Given the description of an element on the screen output the (x, y) to click on. 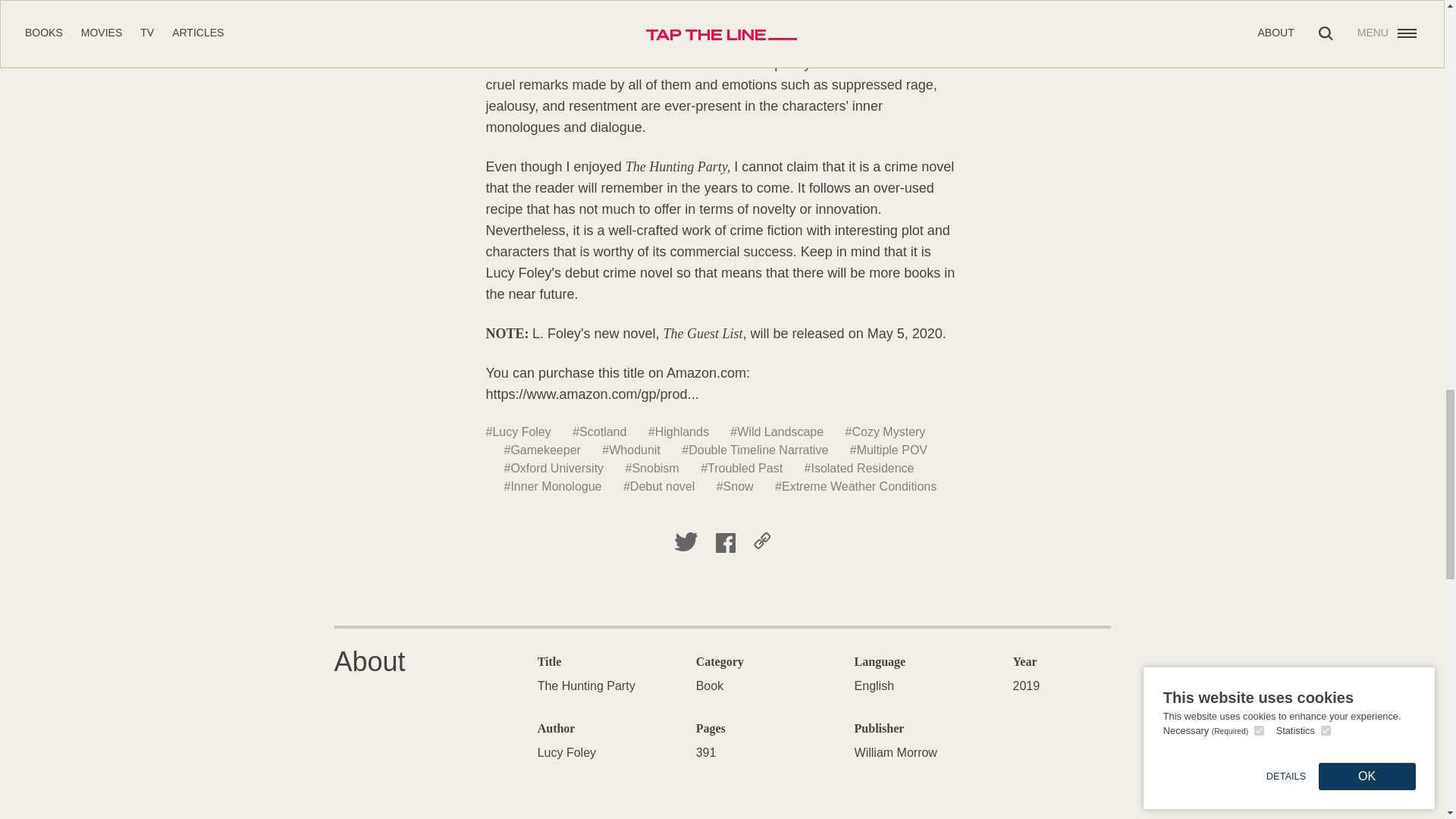
twitter (686, 542)
facebook (725, 542)
